Given the description of an element on the screen output the (x, y) to click on. 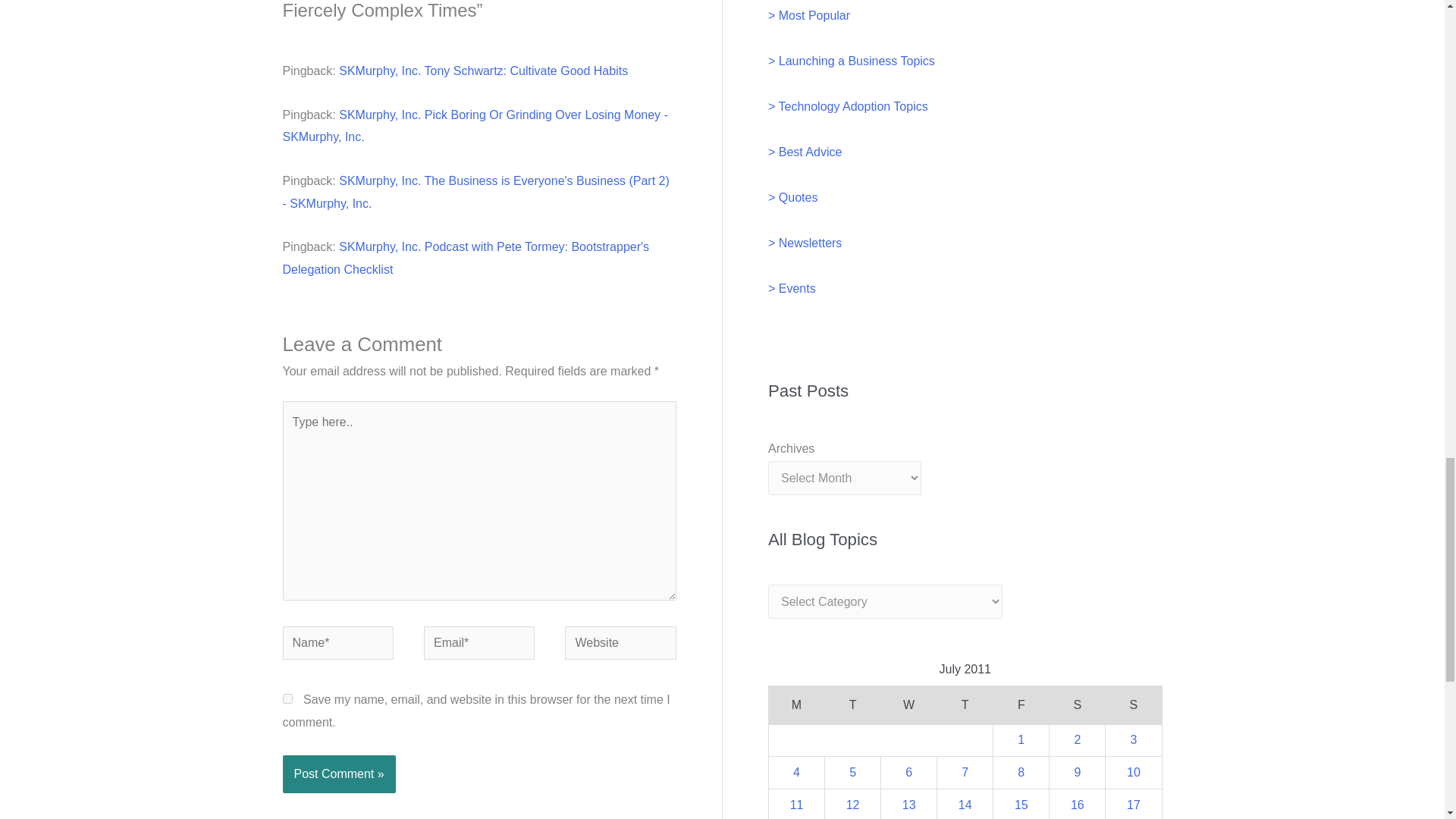
Sunday (1133, 704)
Friday (1020, 704)
Tuesday (852, 704)
Saturday (1077, 704)
yes (287, 698)
Wednesday (908, 704)
Thursday (964, 704)
Monday (796, 704)
